Given the description of an element on the screen output the (x, y) to click on. 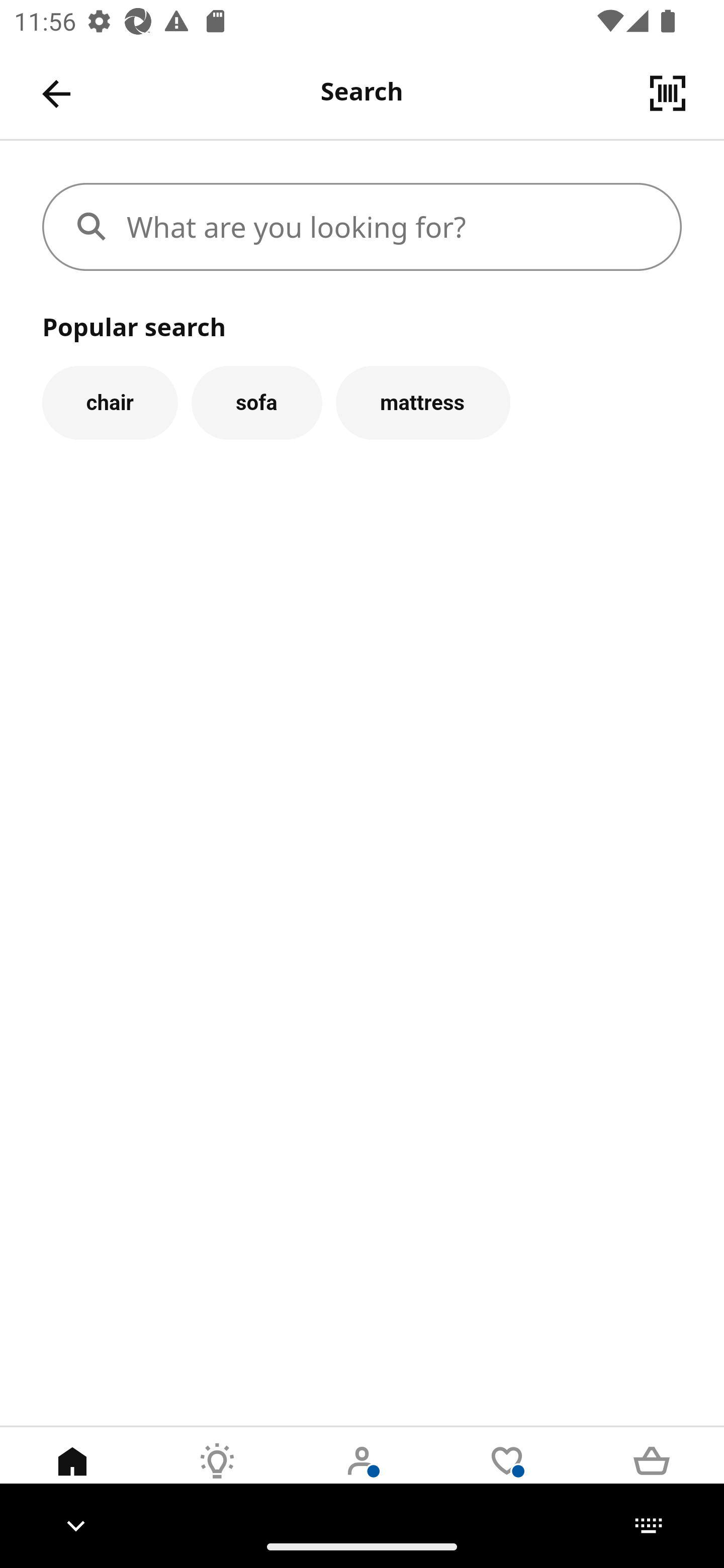
chair (109, 402)
sofa (256, 402)
mattress (423, 402)
Home
Tab 1 of 5 (72, 1476)
Inspirations
Tab 2 of 5 (216, 1476)
User
Tab 3 of 5 (361, 1476)
Wishlist
Tab 4 of 5 (506, 1476)
Cart
Tab 5 of 5 (651, 1476)
